Given the description of an element on the screen output the (x, y) to click on. 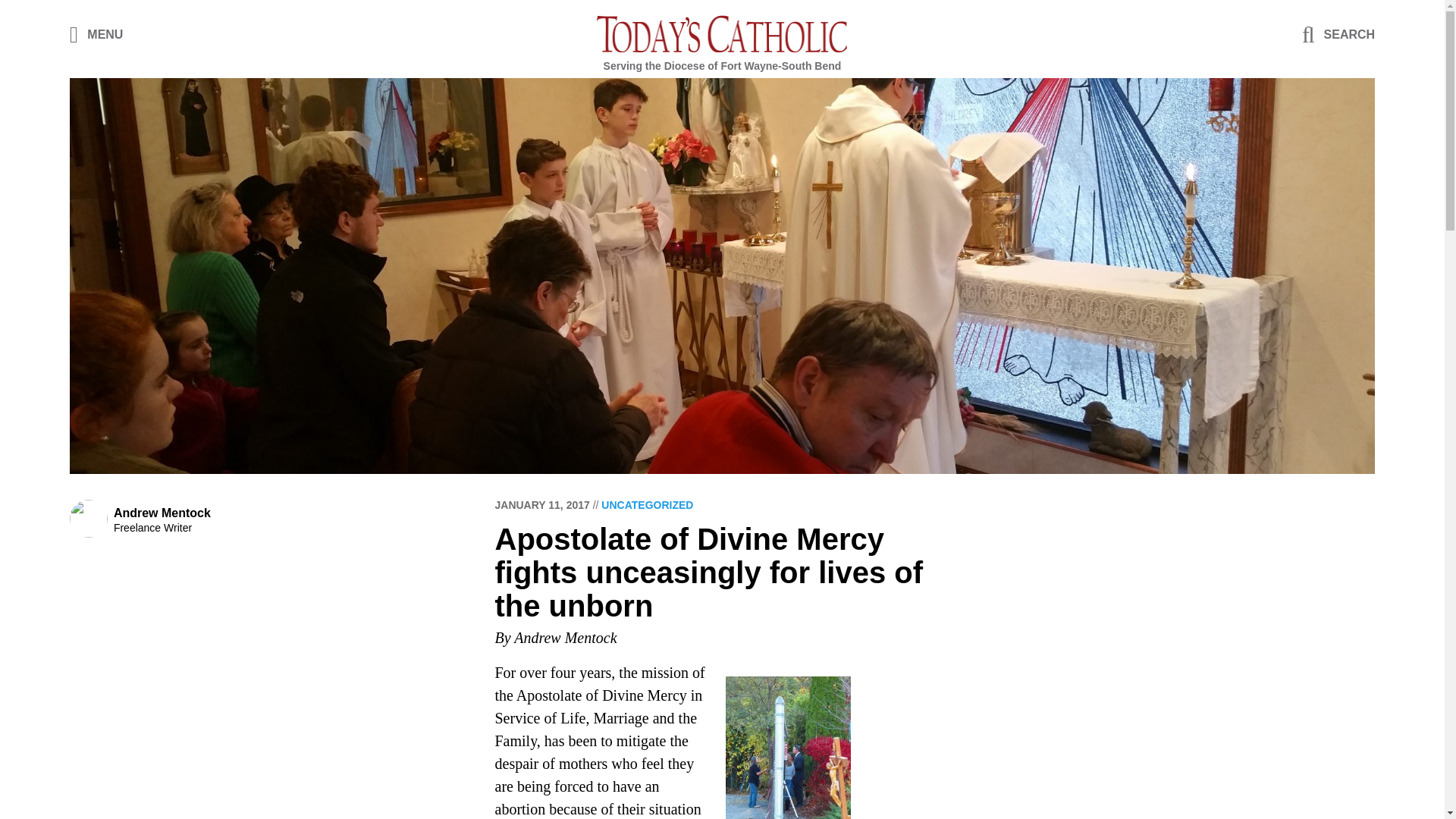
UNCATEGORIZED (647, 504)
MENU (96, 33)
Andrew Mentock (162, 512)
